Given the description of an element on the screen output the (x, y) to click on. 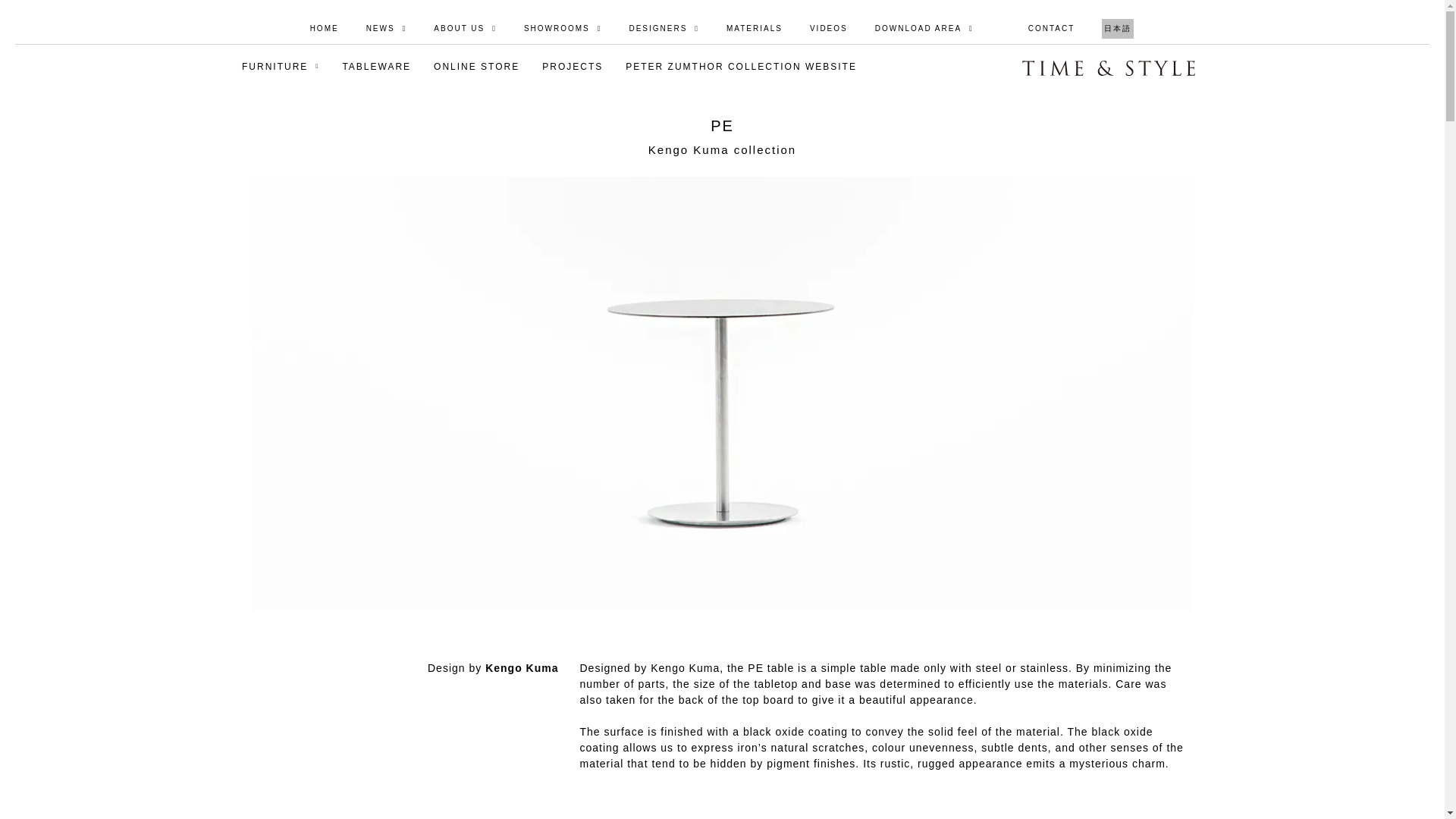
DOWNLOAD AREA (924, 28)
MATERIALS (754, 28)
HOME (324, 28)
DESIGNERS (663, 28)
SHOWROOMS (563, 28)
ABOUT US (465, 28)
NEWS (386, 28)
VIDEOS (828, 28)
